Given the description of an element on the screen output the (x, y) to click on. 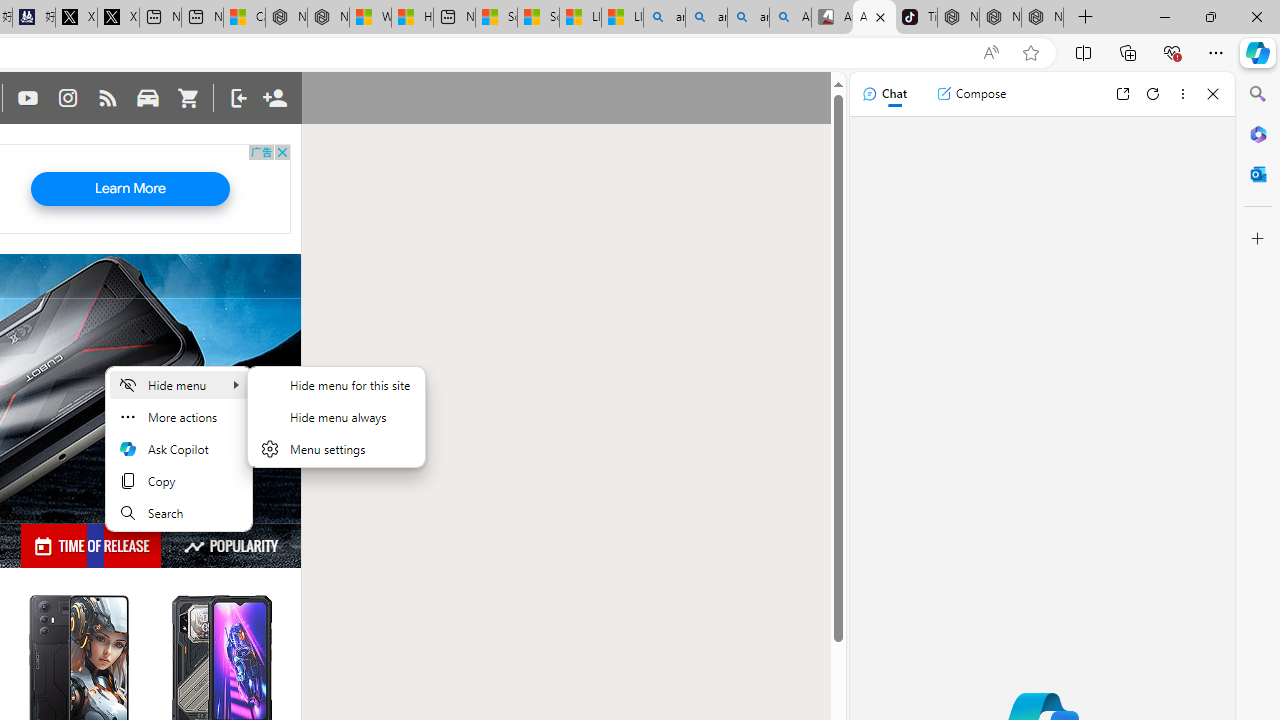
amazon - Search Images (748, 17)
Nordace - Best Sellers (958, 17)
Menu settings (336, 448)
Nordace Siena Pro 15 Backpack (1000, 17)
Customize (1258, 239)
Nordace - Summer Adventures 2024 (328, 17)
Hide menu for this site (336, 384)
Wildlife - MSN (369, 17)
